Given the description of an element on the screen output the (x, y) to click on. 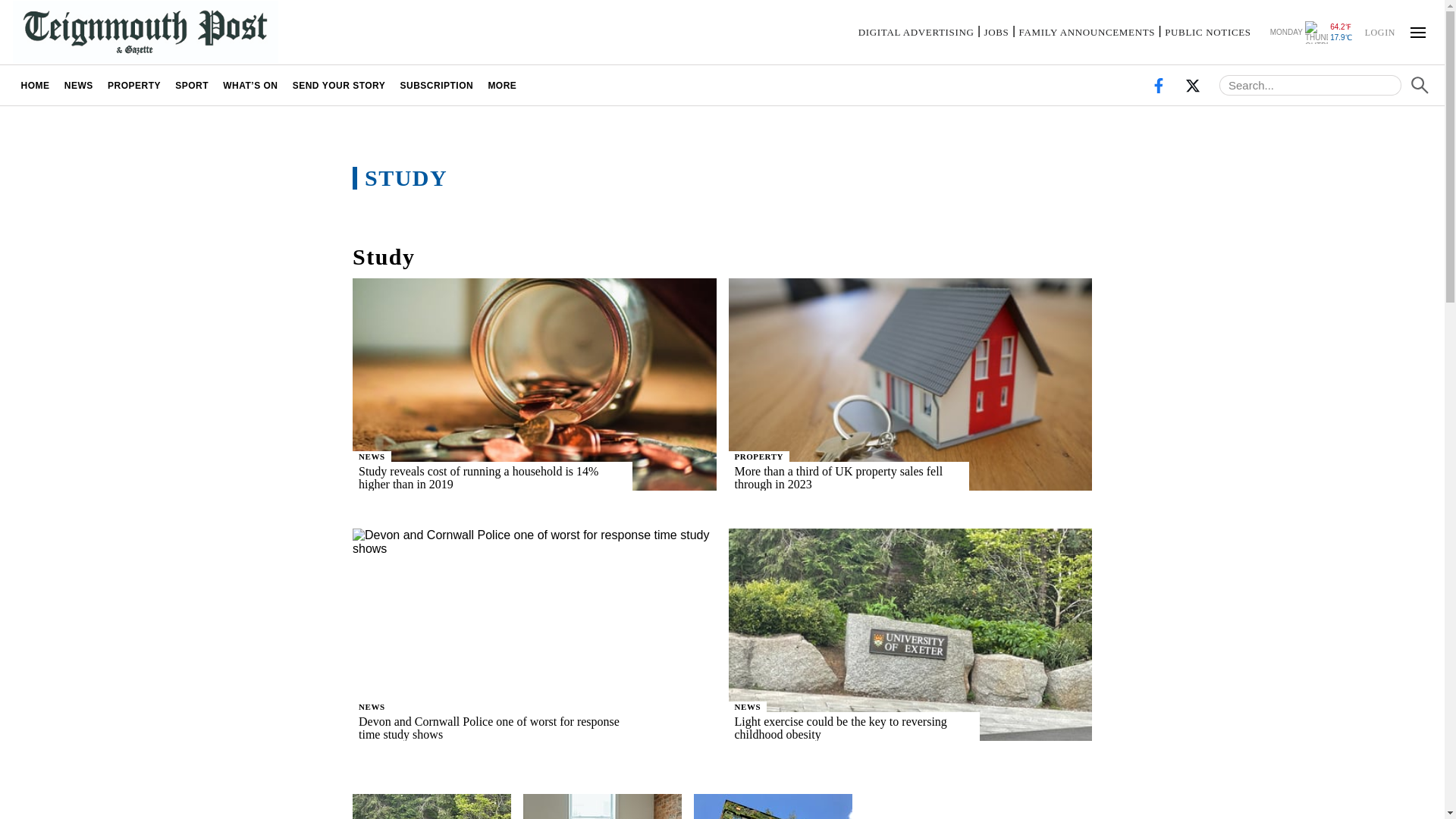
SPORT (191, 85)
NEWS (371, 456)
PROPERTY (758, 456)
More than a third of UK property sales fell through in 2023 (878, 477)
PROPERTY (133, 85)
NEWS (371, 706)
PUBLIC NOTICES (1207, 32)
LOGIN (1379, 31)
HOME (34, 85)
